Given the description of an element on the screen output the (x, y) to click on. 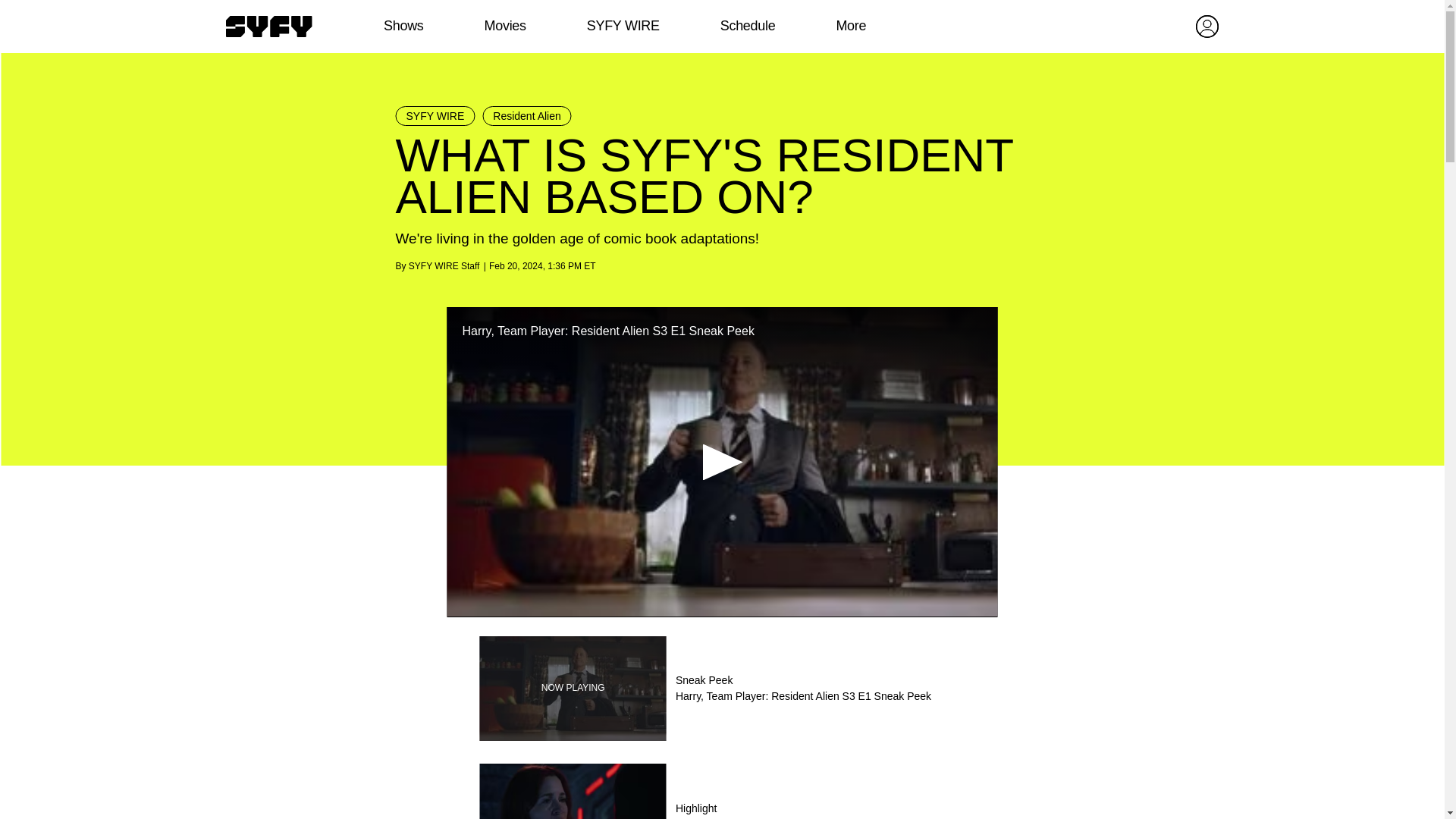
Shows (403, 26)
Movies (504, 26)
More (850, 26)
SYFY WIRE (622, 26)
Resident Alien (526, 116)
SYFY WIRE (436, 116)
SYFY WIRE Staff (444, 266)
